Given the description of an element on the screen output the (x, y) to click on. 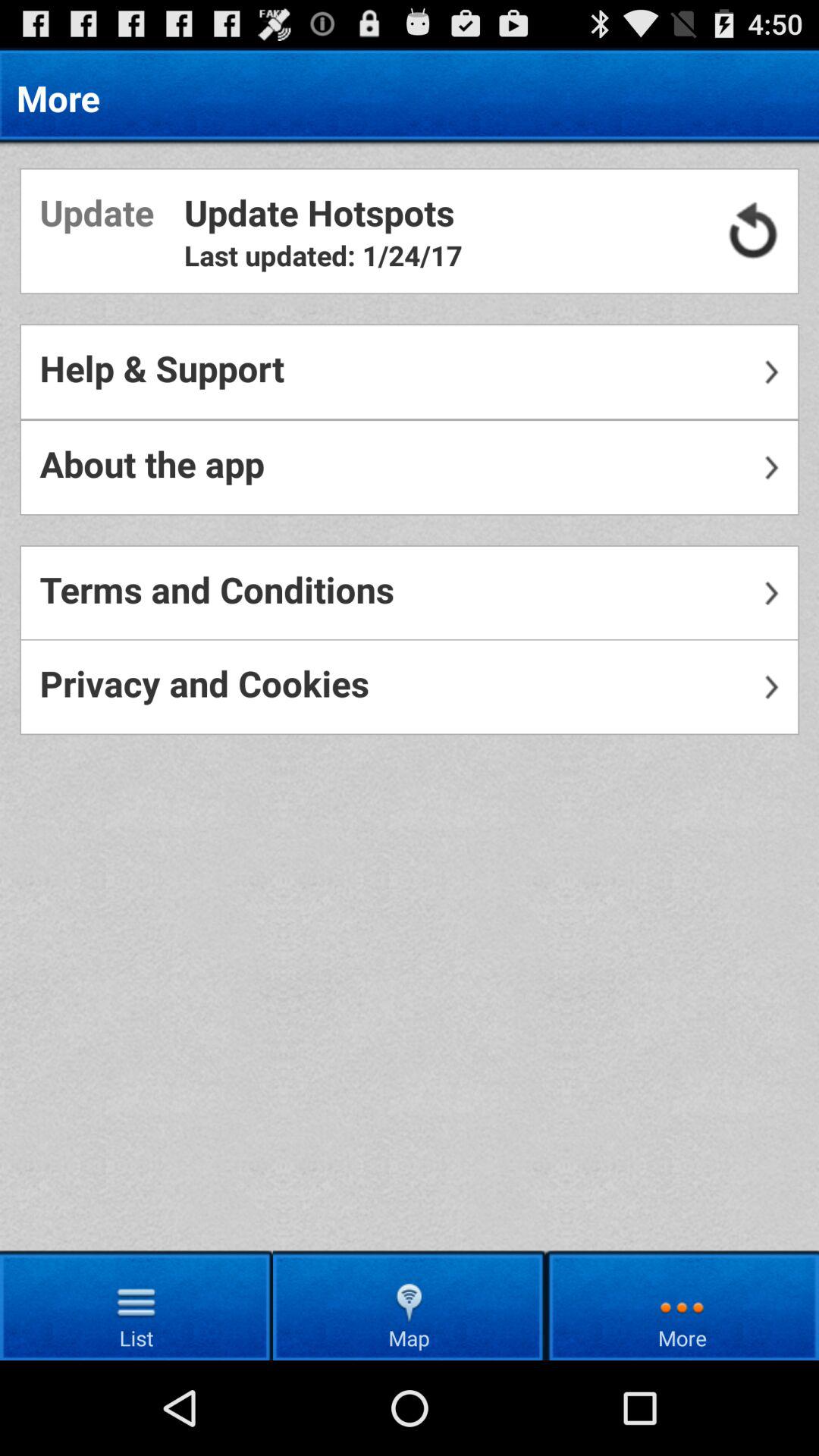
turn on privacy and cookies icon (409, 686)
